Given the description of an element on the screen output the (x, y) to click on. 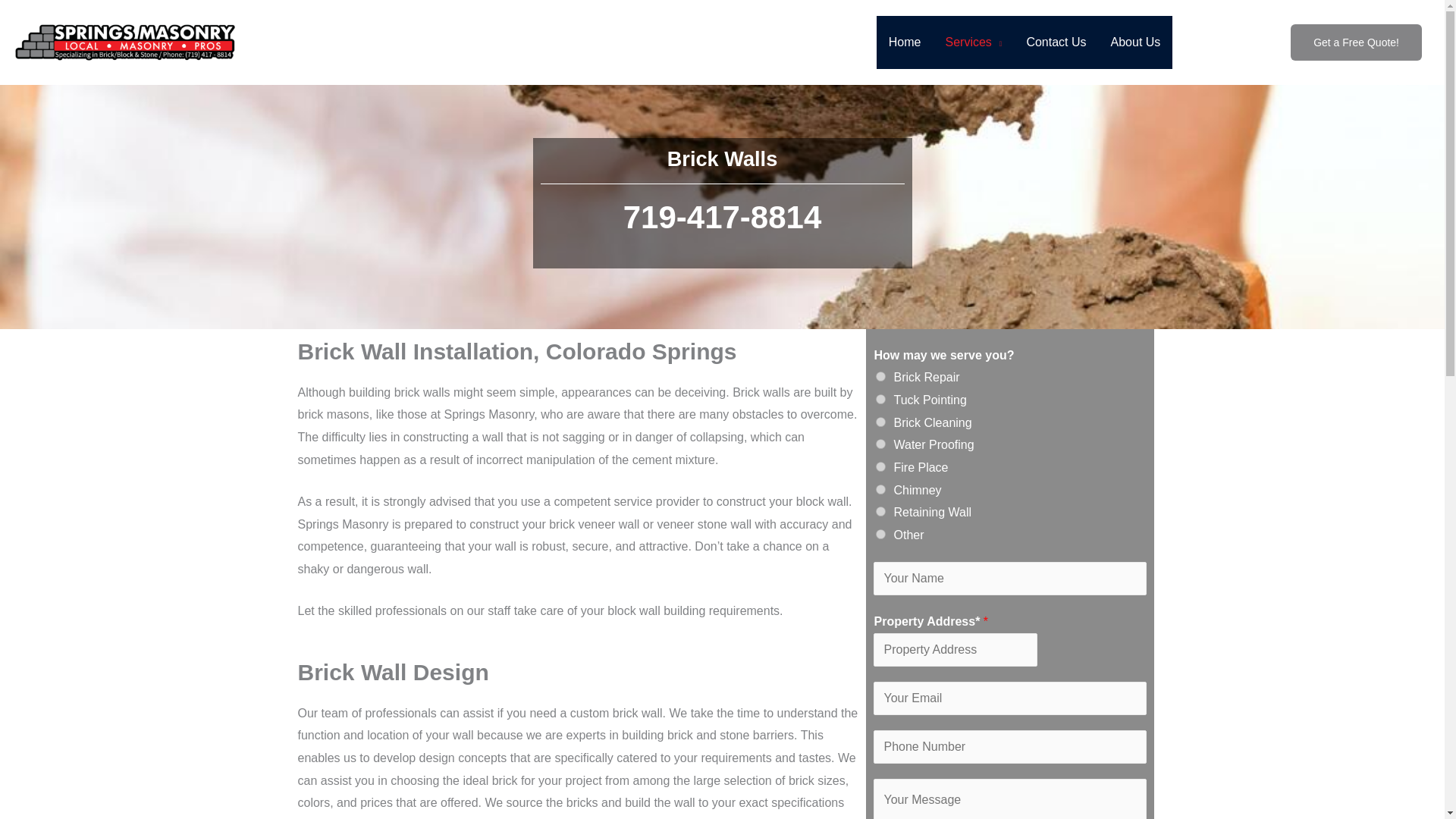
Contact Us (1055, 41)
Chimney (880, 489)
Brick Repair (880, 376)
Other (880, 533)
Fire Place (880, 466)
About Us (1136, 41)
Services (973, 41)
Retaining Wall (880, 511)
Get a Free Quote! (1356, 42)
Water Proofing (880, 443)
Home (904, 41)
Tuck Pointing (880, 398)
Brick Cleaning (880, 421)
